Given the description of an element on the screen output the (x, y) to click on. 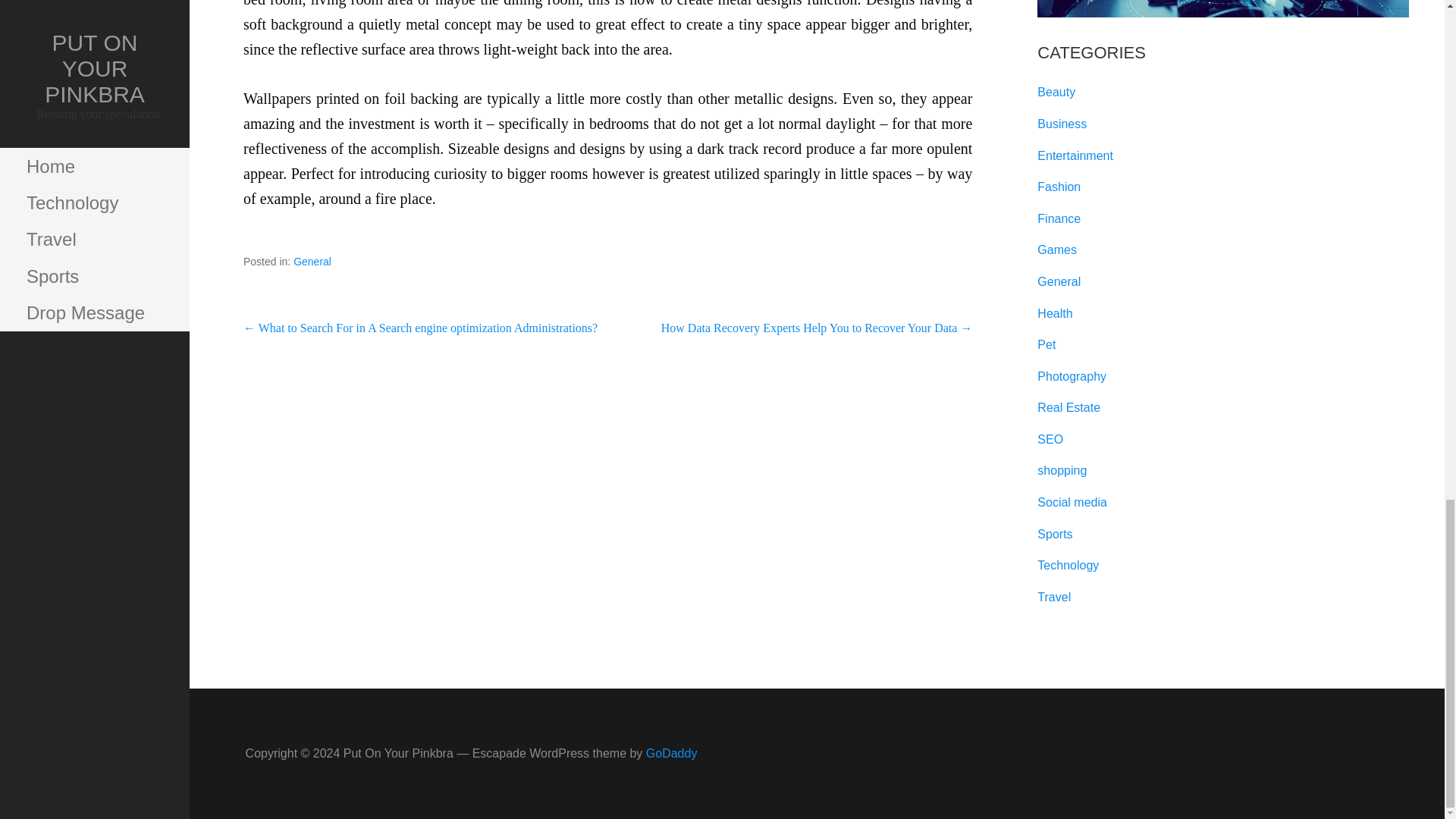
Games (1056, 249)
Business (1061, 123)
Health (1053, 313)
Social media (1071, 502)
Photography (1071, 376)
Finance (1058, 218)
General (312, 261)
Technology (1067, 564)
Travel (1053, 596)
Sports (1053, 533)
SEO (1049, 439)
General (1058, 281)
Pet (1045, 344)
shopping (1061, 470)
Fashion (1058, 186)
